Given the description of an element on the screen output the (x, y) to click on. 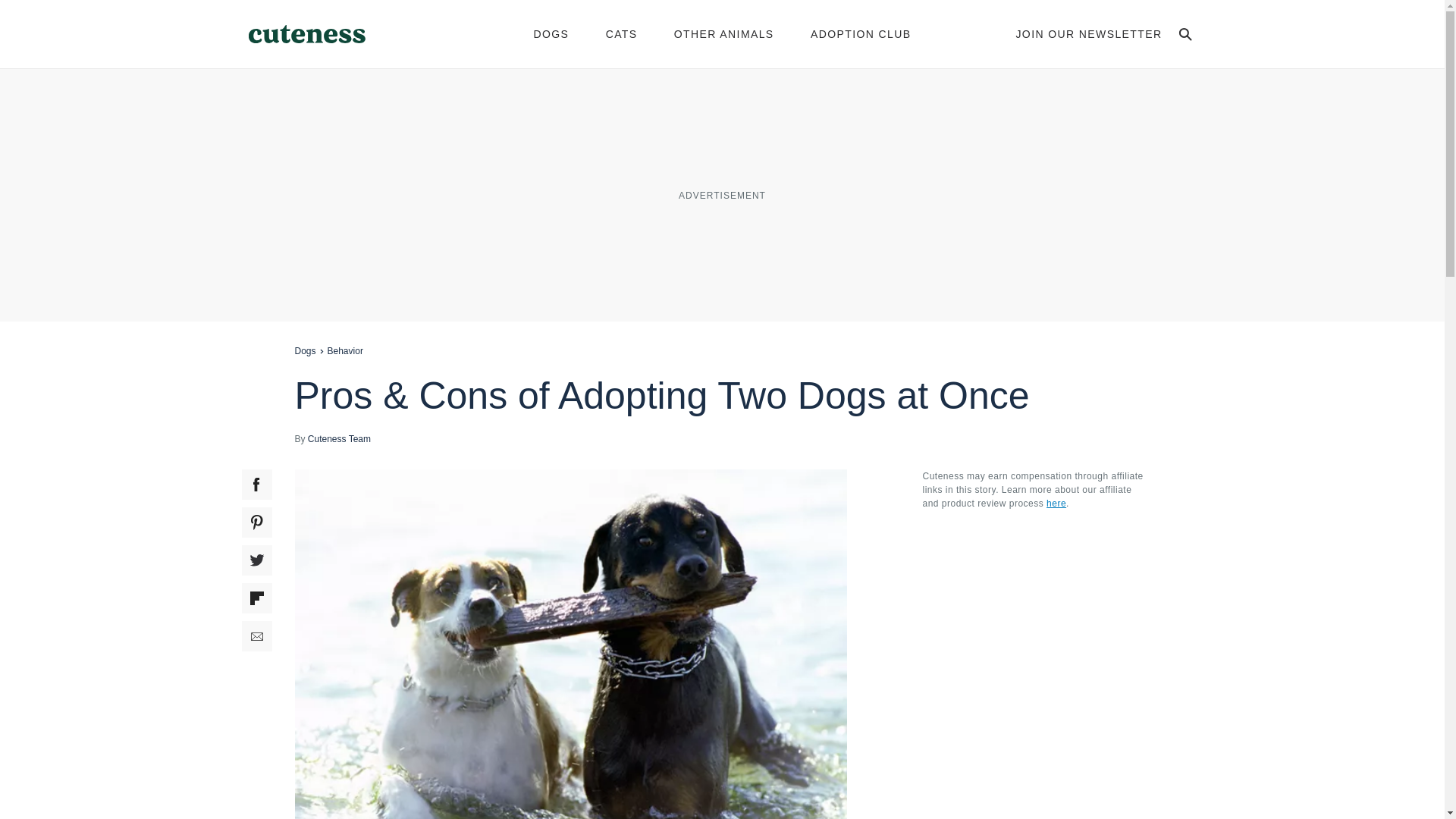
Dogs (304, 350)
ADOPTION CLUB (860, 33)
Behavior (344, 350)
JOIN OUR NEWSLETTER (1087, 33)
Learn more about our affiliate and product review process (1055, 502)
